Given the description of an element on the screen output the (x, y) to click on. 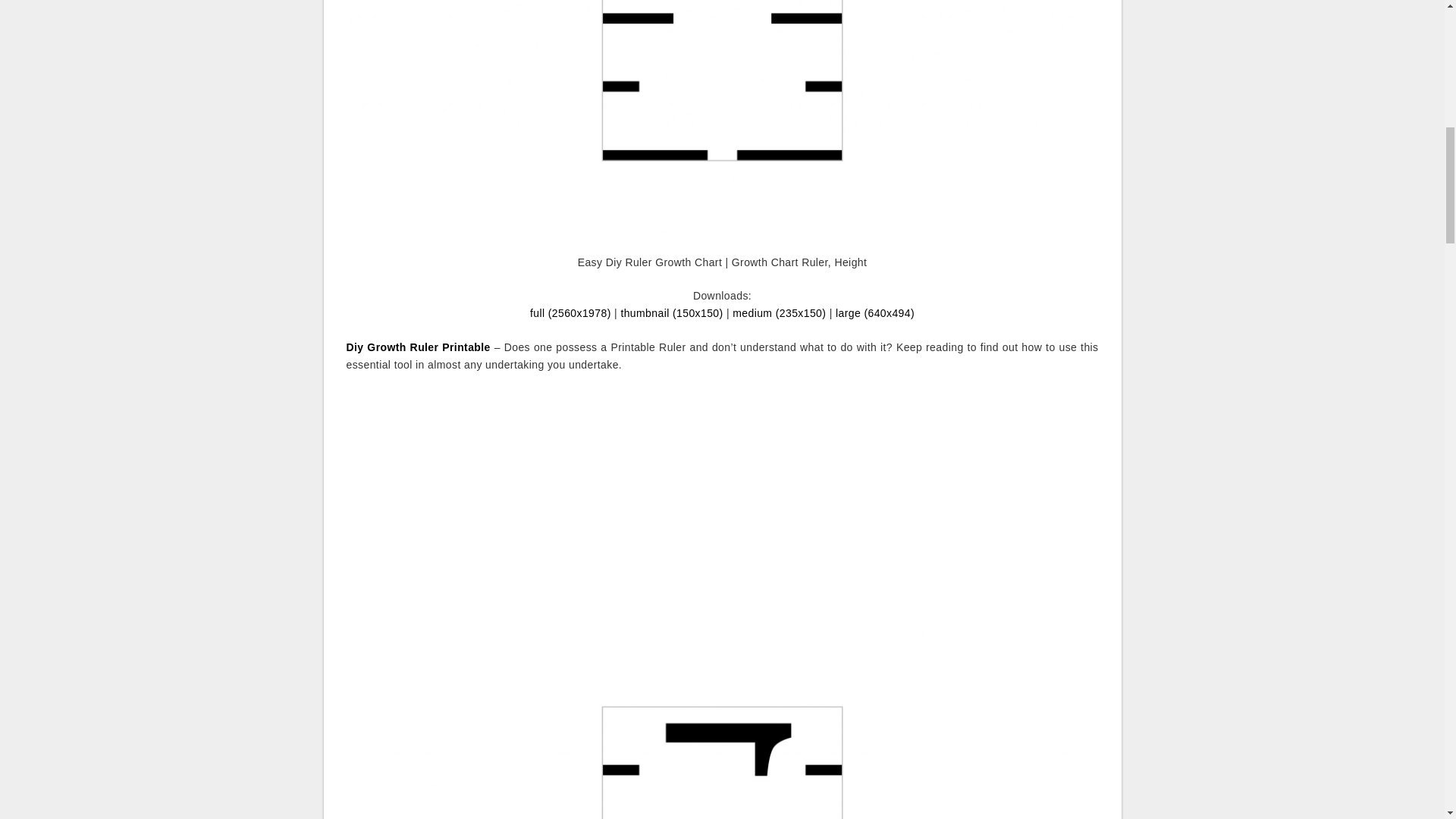
Diy Growth Ruler Printable (417, 346)
Advertisement (721, 495)
